Given the description of an element on the screen output the (x, y) to click on. 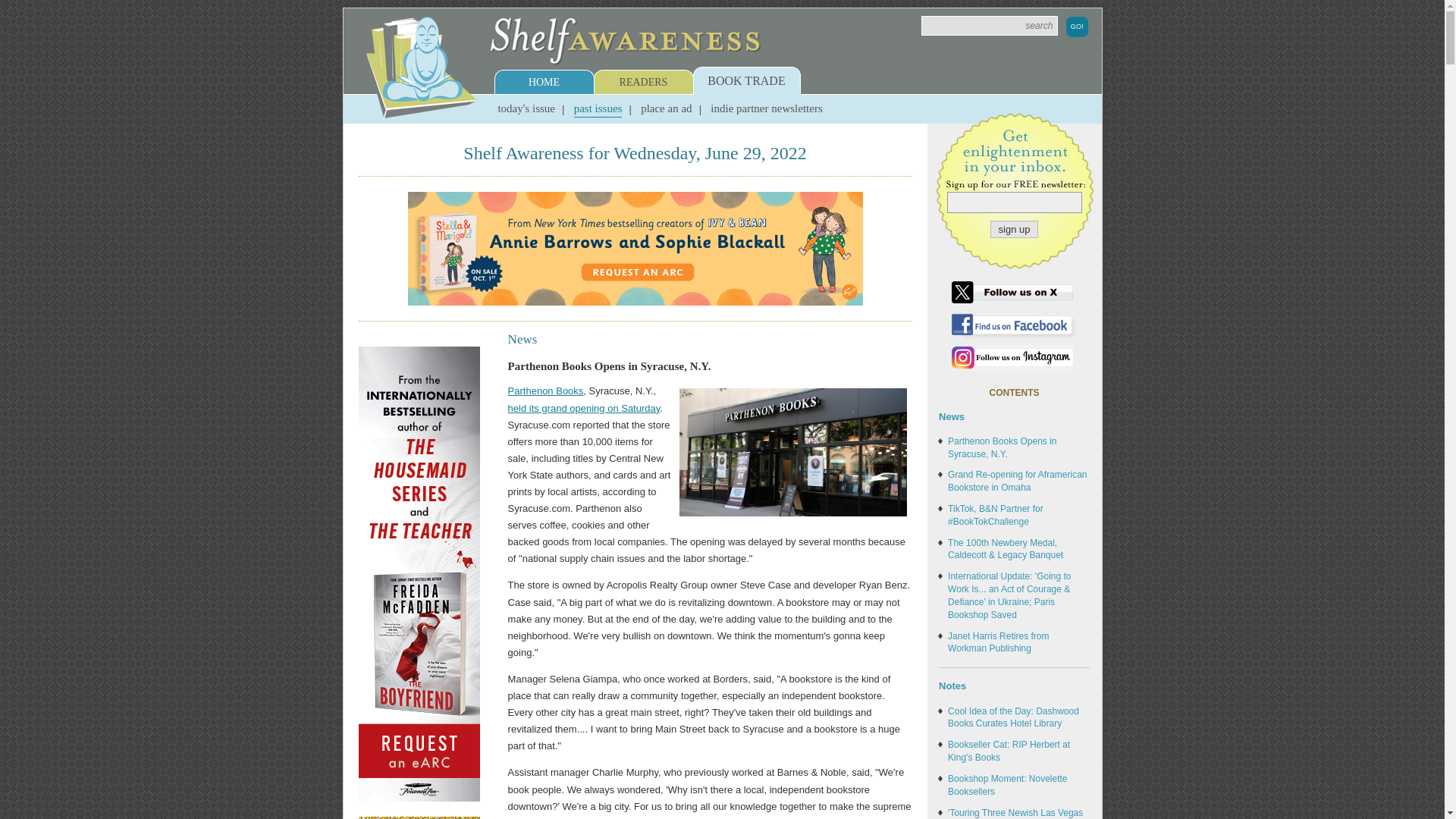
Search News and Articles (989, 25)
today's issue (525, 108)
READERS (643, 82)
sign up (1014, 229)
place an ad (665, 108)
held its grand opening on Saturday (584, 408)
Parthenon Books (545, 390)
Go! (1076, 26)
HOME (543, 82)
BOOK TRADE (746, 81)
Go! (1076, 26)
indie partner newsletters (766, 108)
past issues (598, 108)
